Given the description of an element on the screen output the (x, y) to click on. 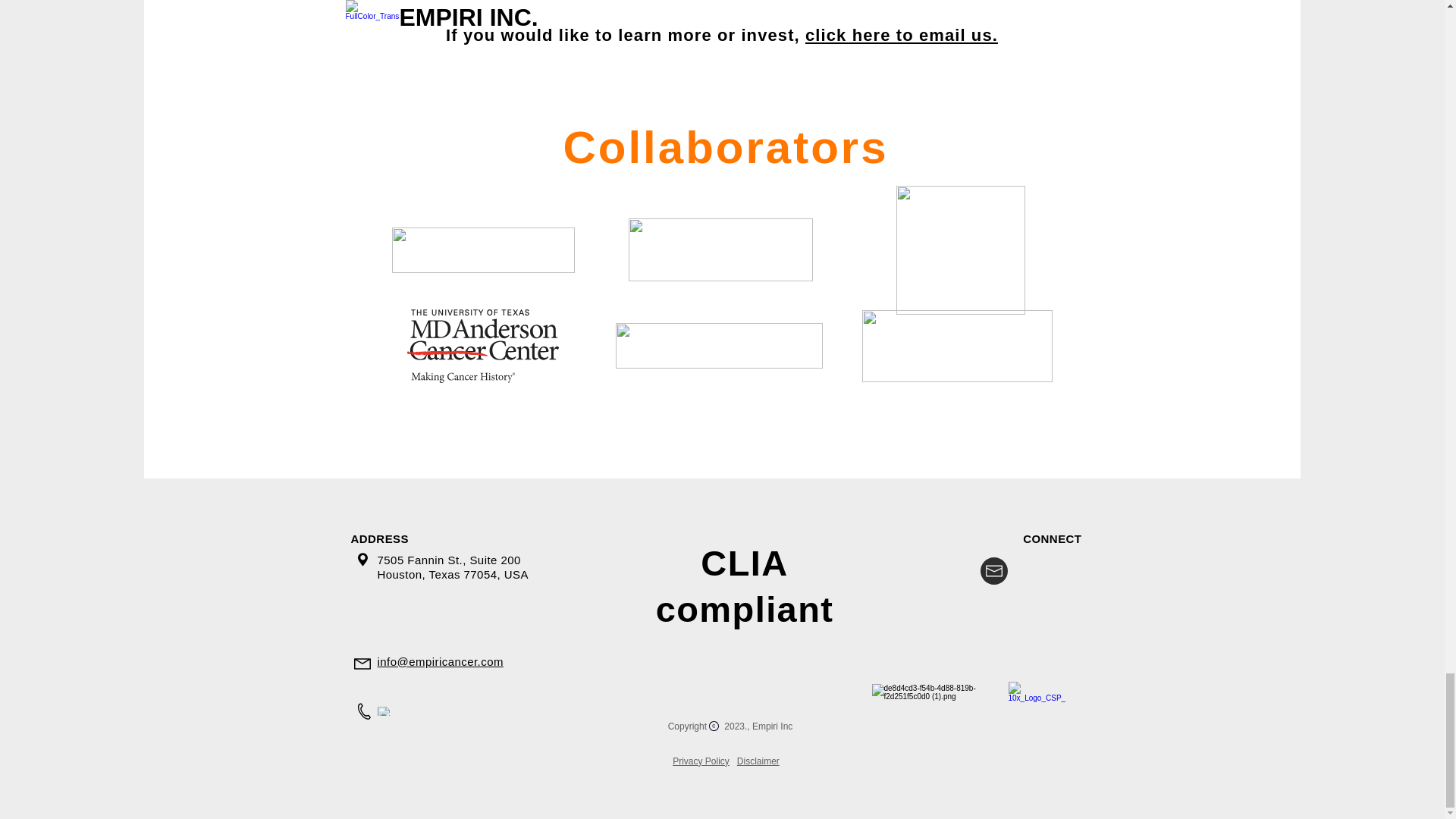
Privacy Policy (700, 760)
click here to email us. (901, 35)
Disclaimer (757, 760)
7505 Fannin St., Suite 200 Houston, Texas 77054, USA (452, 566)
